Given the description of an element on the screen output the (x, y) to click on. 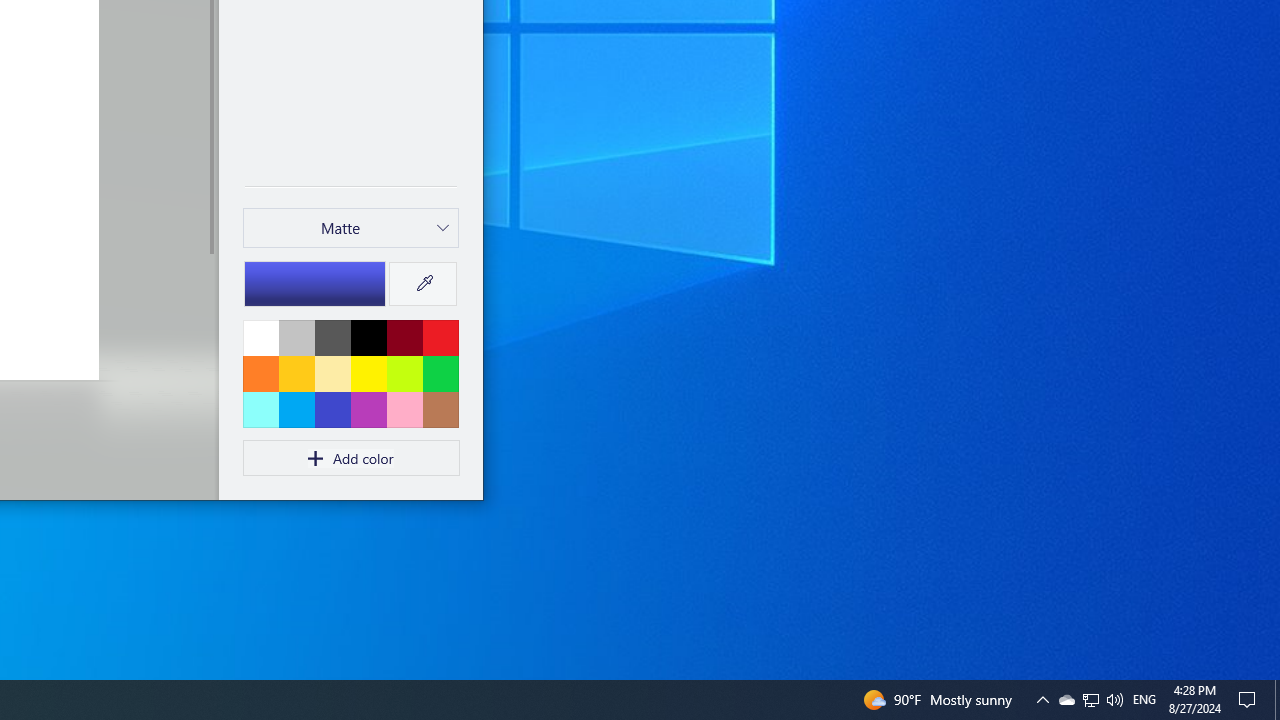
Dark red (404, 337)
Yellow (368, 373)
Green (440, 373)
